Given the description of an element on the screen output the (x, y) to click on. 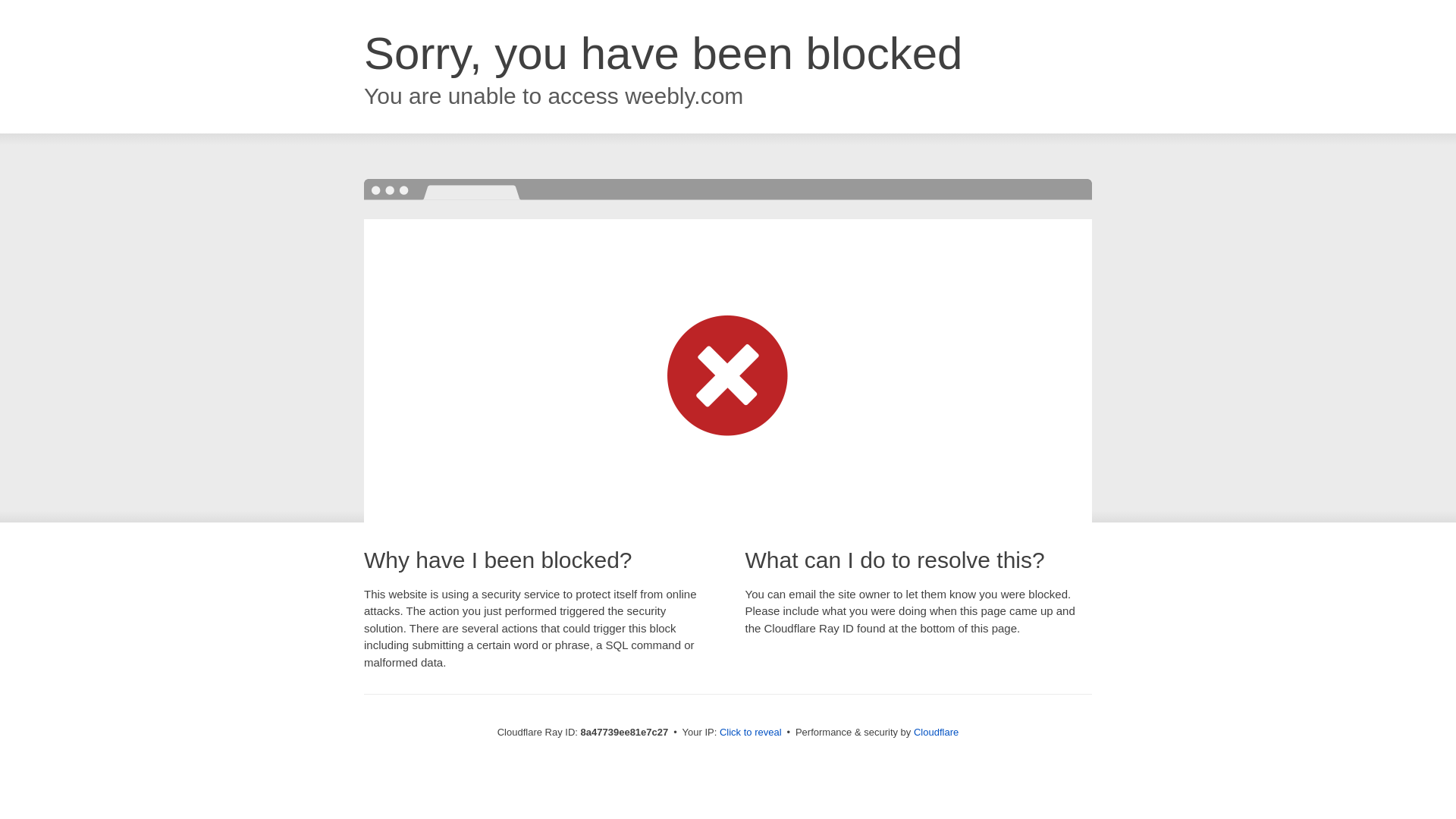
Cloudflare (936, 731)
Click to reveal (750, 732)
